Given the description of an element on the screen output the (x, y) to click on. 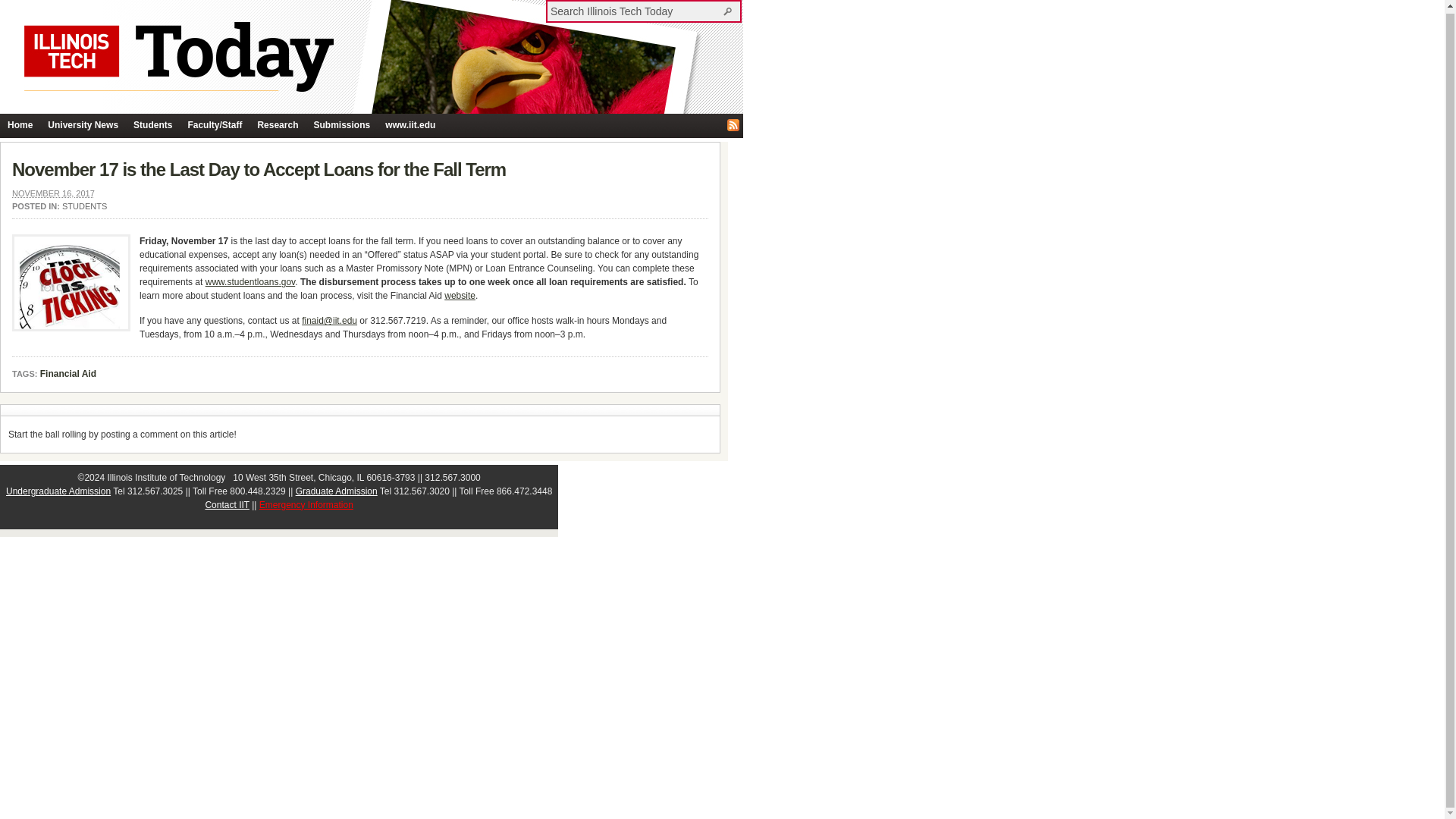
2017-11-16T07:34:41-06:00 (52, 193)
RSS Feed (732, 124)
University News (82, 125)
Students (152, 125)
Search (729, 10)
Search (729, 10)
Undergraduate Admission (57, 491)
Contact IIT (226, 504)
Financial Aid (68, 374)
Illinois Tech Today RSS Feed (732, 124)
